Given the description of an element on the screen output the (x, y) to click on. 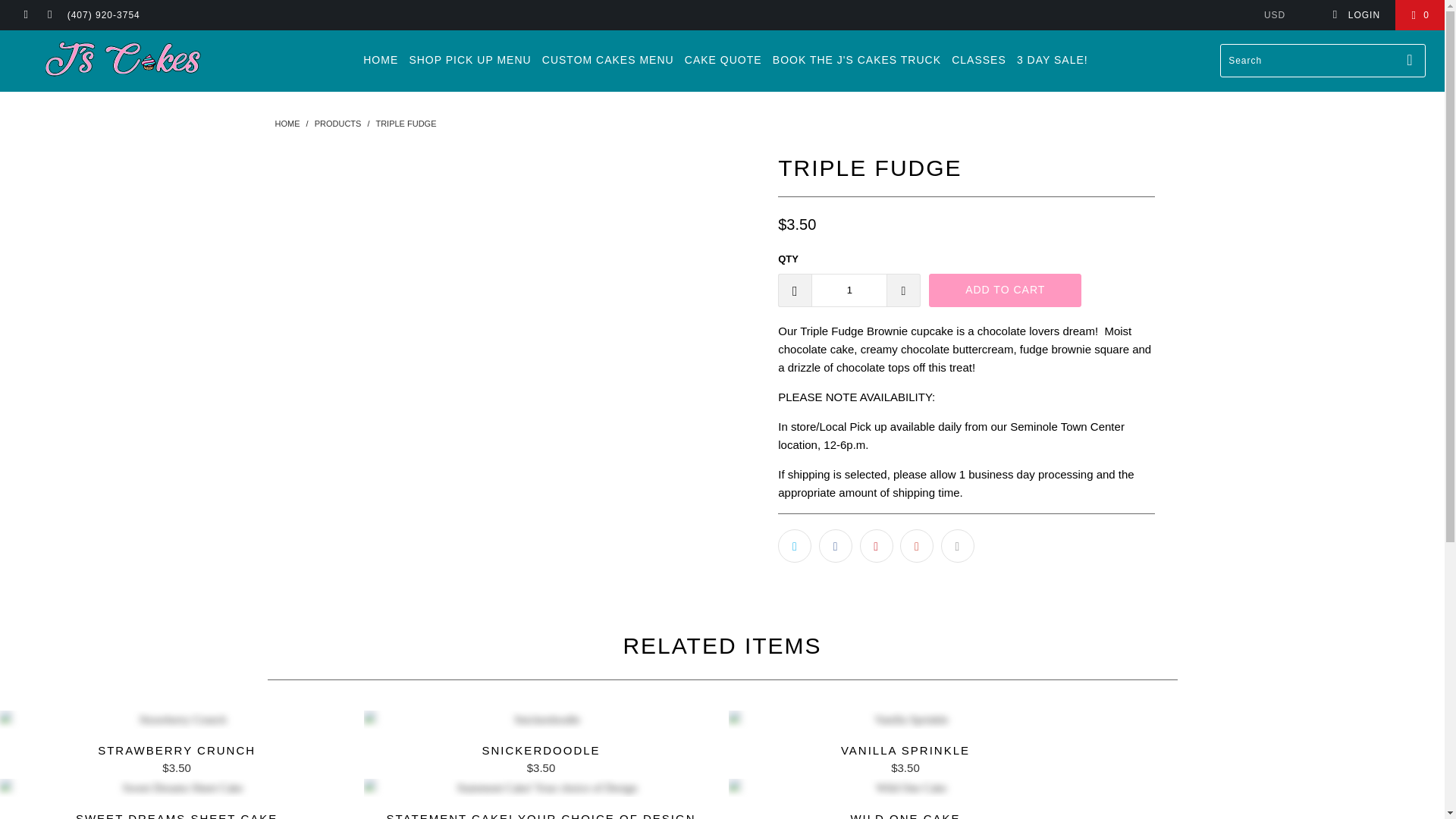
My Account  (1355, 15)
3 DAY SALE! (1051, 59)
CUSTOM CAKES MENU (607, 59)
HOME (379, 59)
BOOK THE J'S CAKES TRUCK (856, 59)
CLASSES (979, 59)
Share this on Pinterest (876, 545)
ADD TO CART (1004, 290)
Email this to a friend (957, 545)
1 (848, 290)
PRODUCTS (339, 122)
J's Cakes on Facebook (25, 14)
J's Cakes (122, 60)
Products (339, 122)
J's Cakes (287, 122)
